Given the description of an element on the screen output the (x, y) to click on. 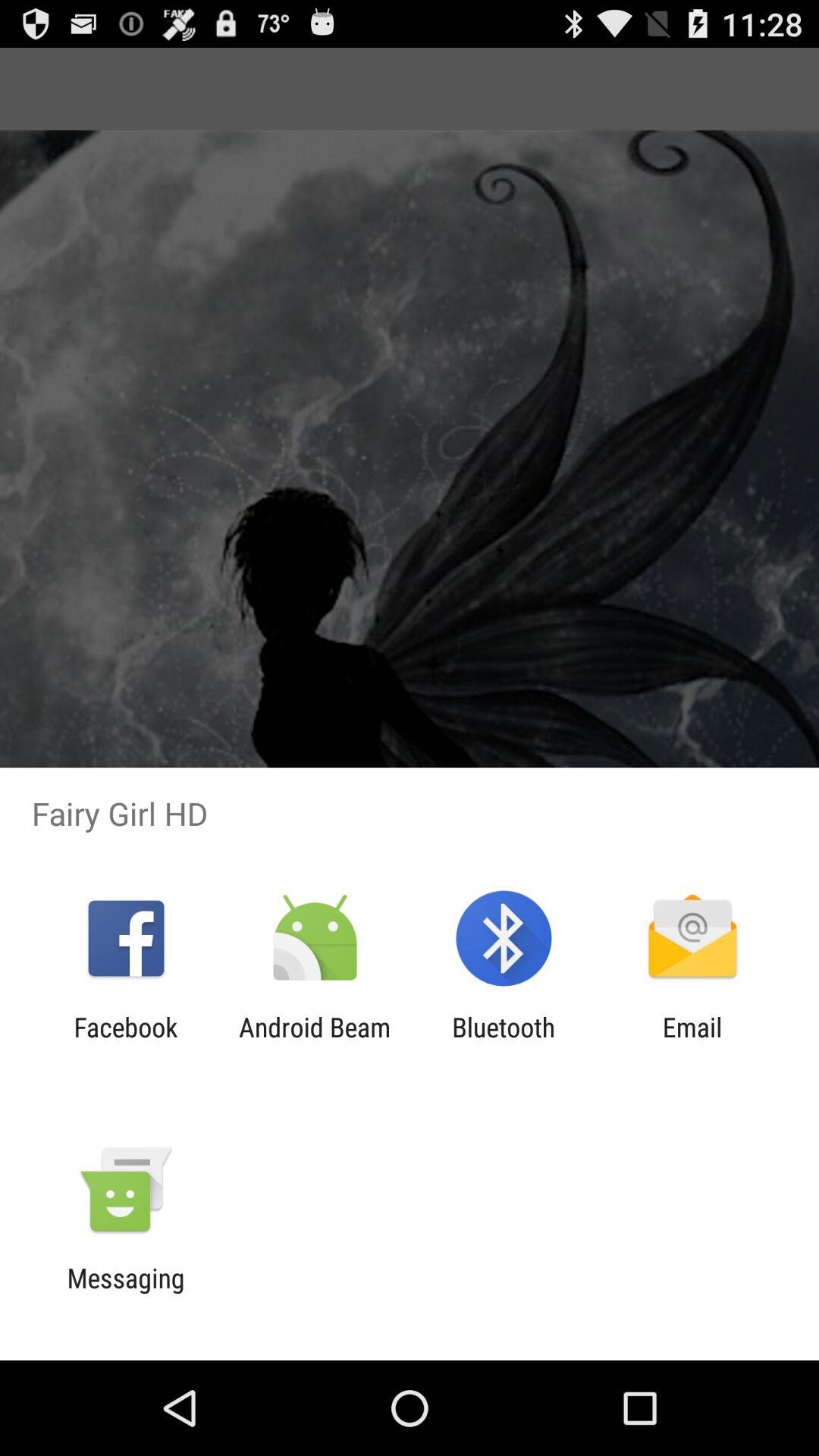
press the item at the bottom right corner (692, 1042)
